Given the description of an element on the screen output the (x, y) to click on. 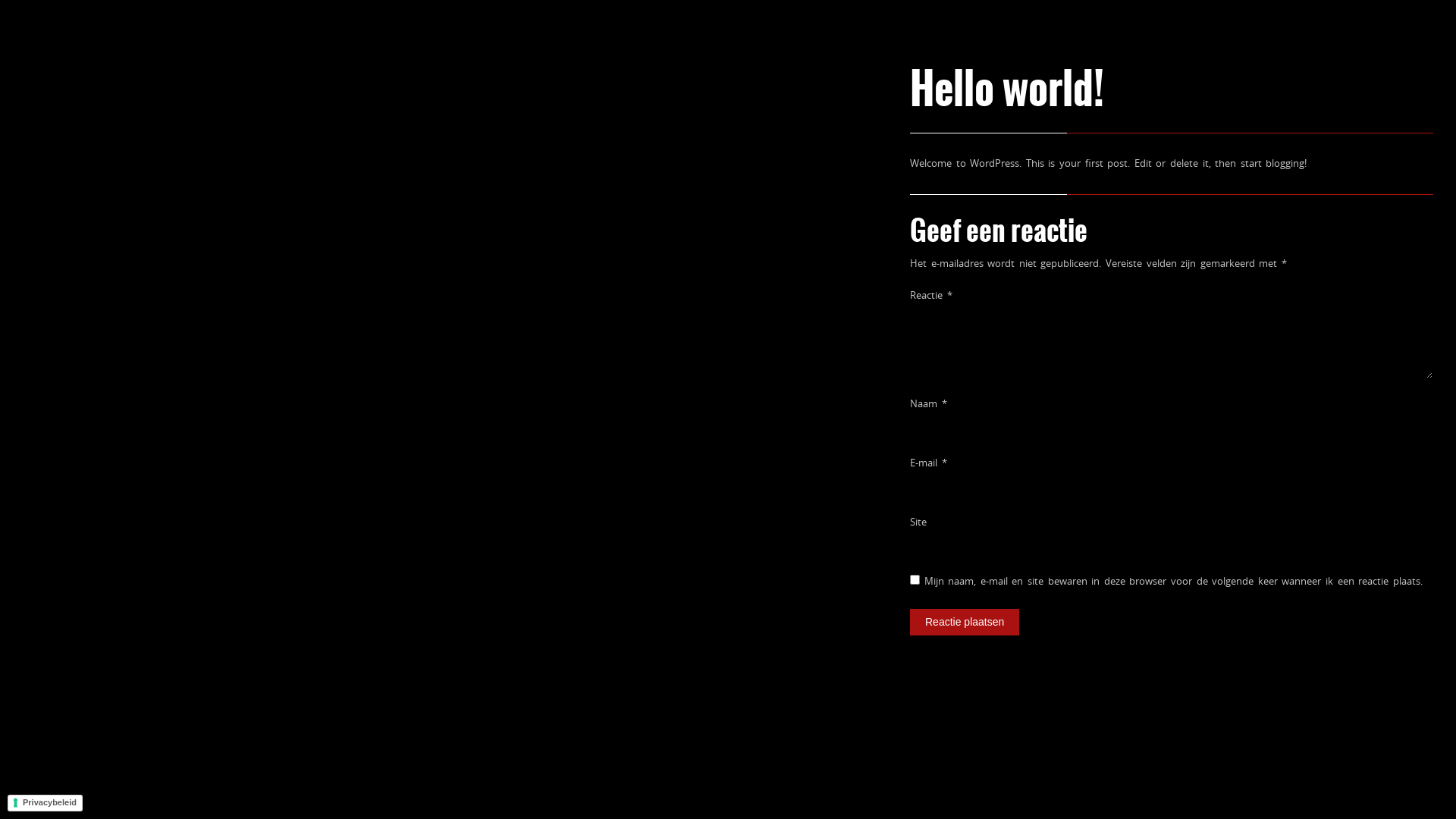
Privacybeleid Element type: text (44, 802)
Reactie plaatsen Element type: text (964, 621)
